Given the description of an element on the screen output the (x, y) to click on. 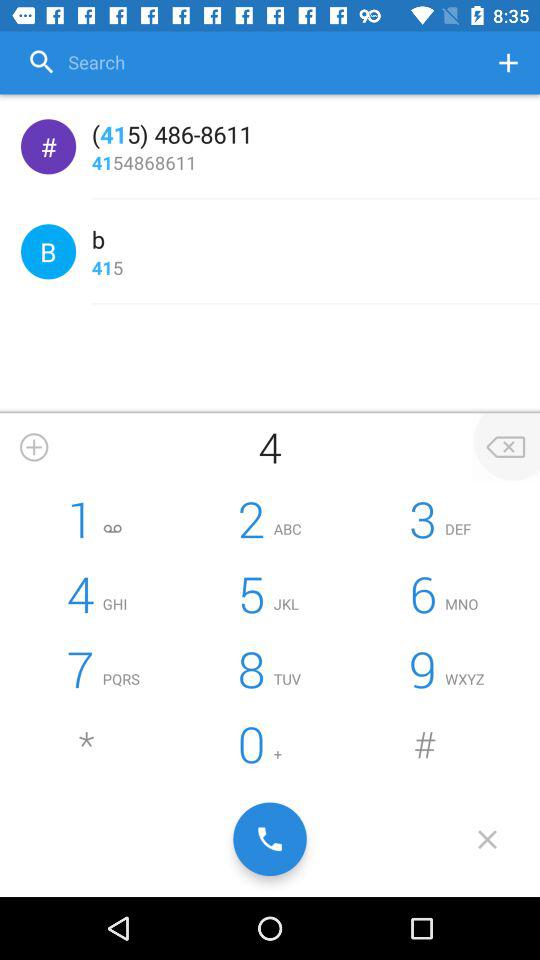
click cancel (487, 839)
